Given the description of an element on the screen output the (x, y) to click on. 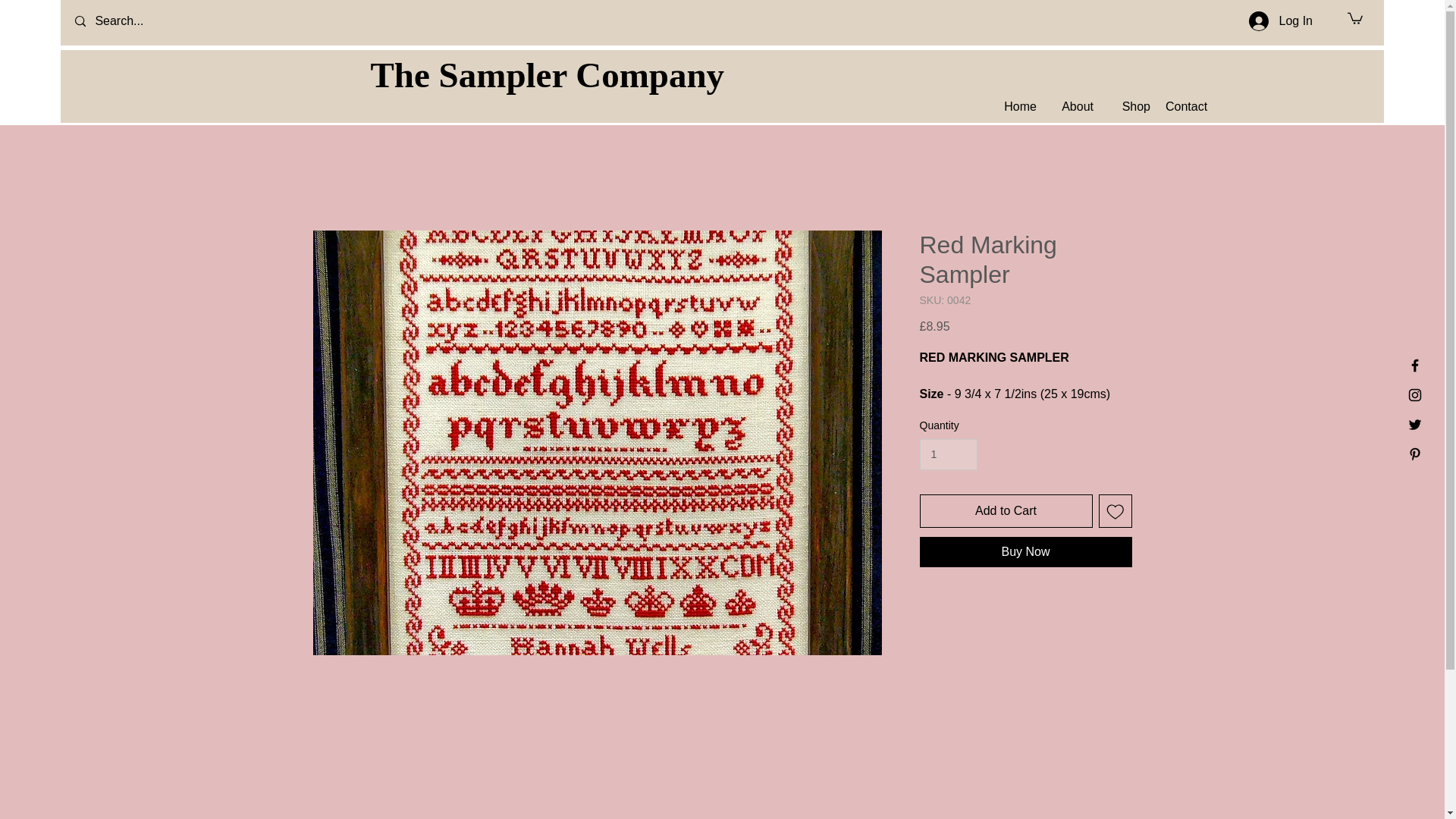
Contact (1185, 106)
Add to Cart (1005, 510)
1 (947, 454)
Log In (1281, 21)
Home (1015, 106)
Shop (1128, 106)
Buy Now (1024, 552)
About (1071, 106)
